Given the description of an element on the screen output the (x, y) to click on. 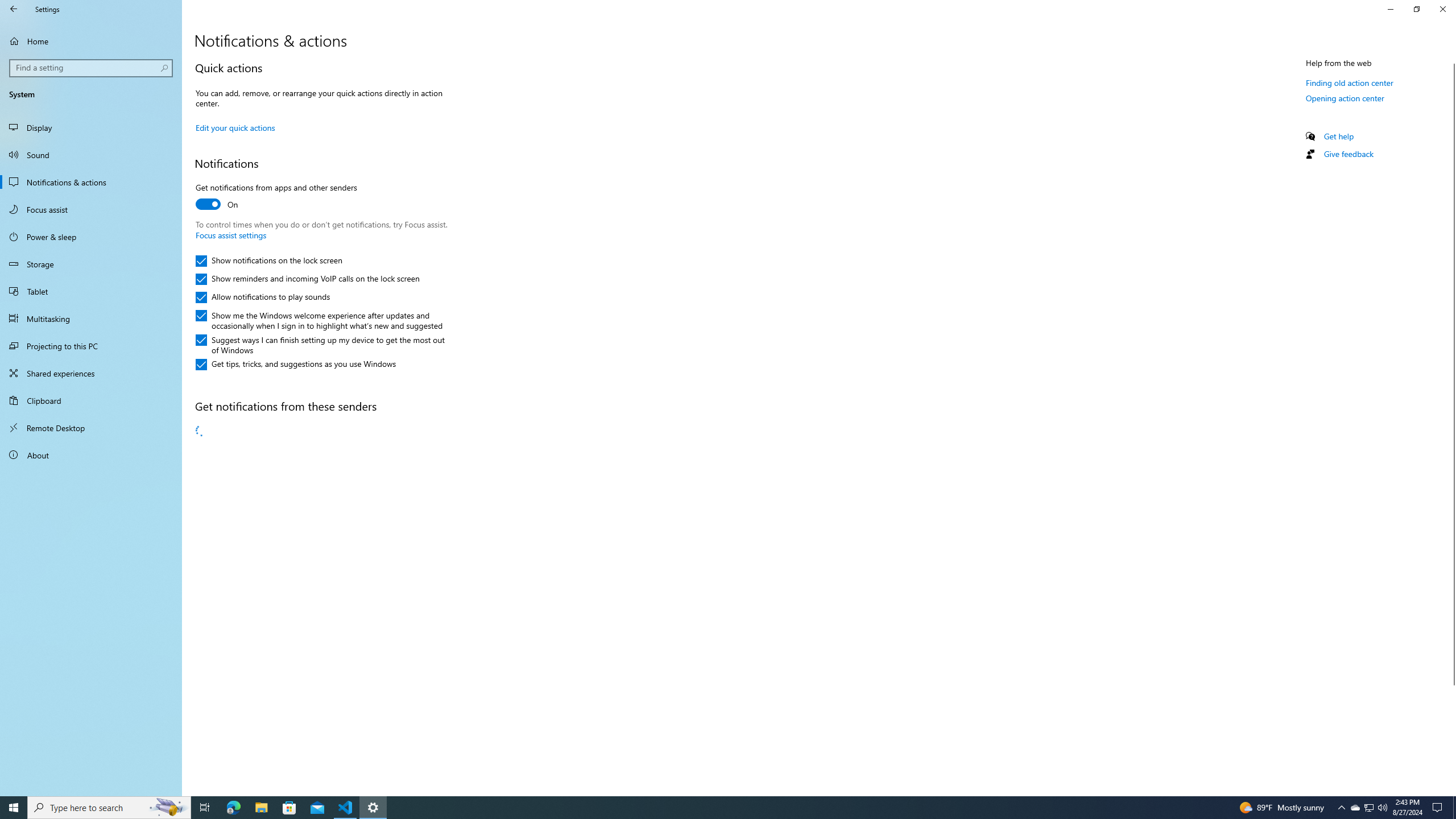
Power & sleep (91, 236)
Projecting to this PC (91, 345)
